Given the description of an element on the screen output the (x, y) to click on. 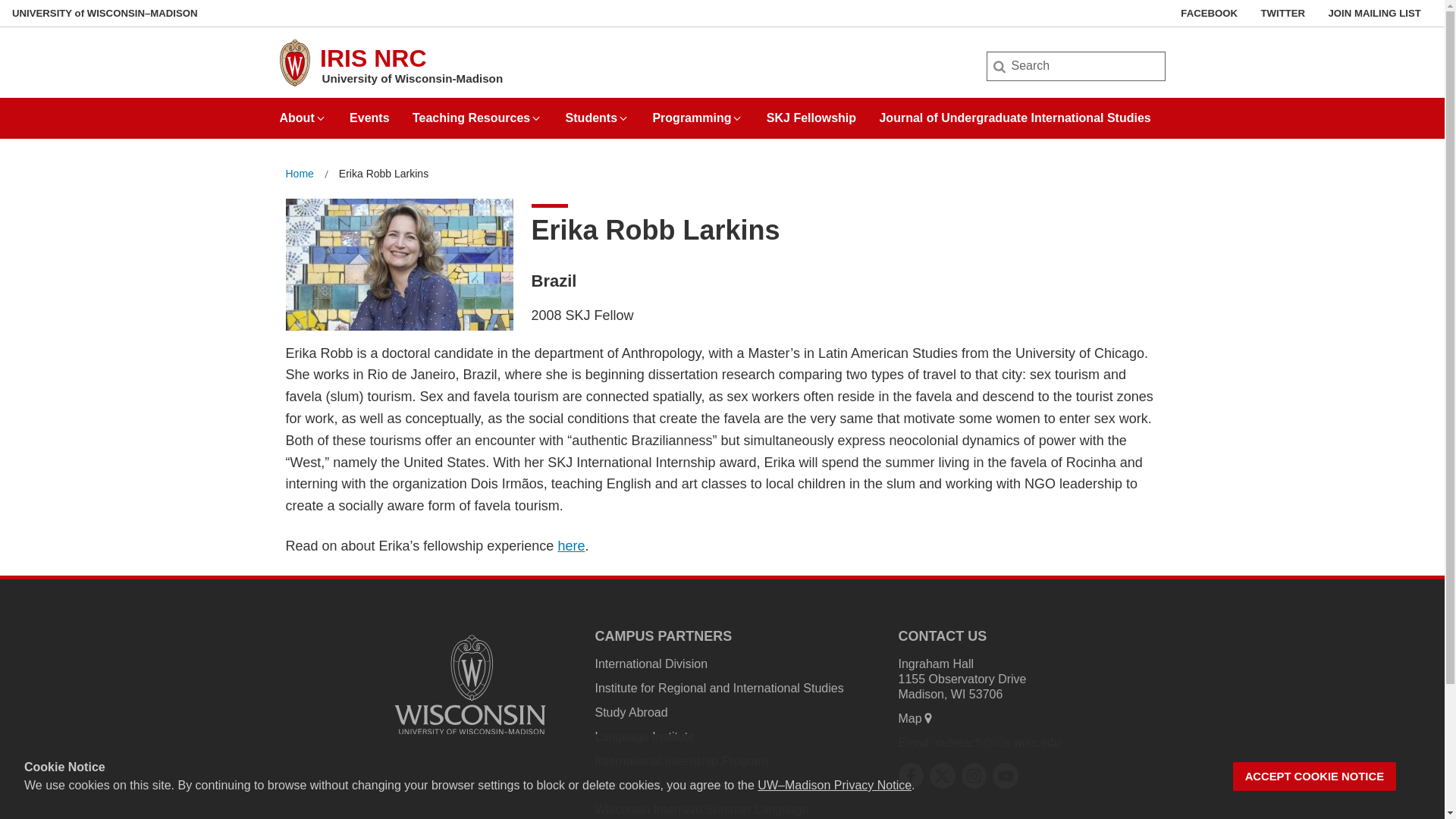
Home (299, 173)
TWITTER (1282, 13)
IRIS NRC (373, 58)
ACCEPT COOKIE NOTICE (1314, 776)
Events (368, 112)
Programming Expand (697, 112)
facebook (910, 775)
Journal of Undergraduate International Studies (1014, 112)
Students Expand (597, 112)
Skip to main content (3, 3)
